Given the description of an element on the screen output the (x, y) to click on. 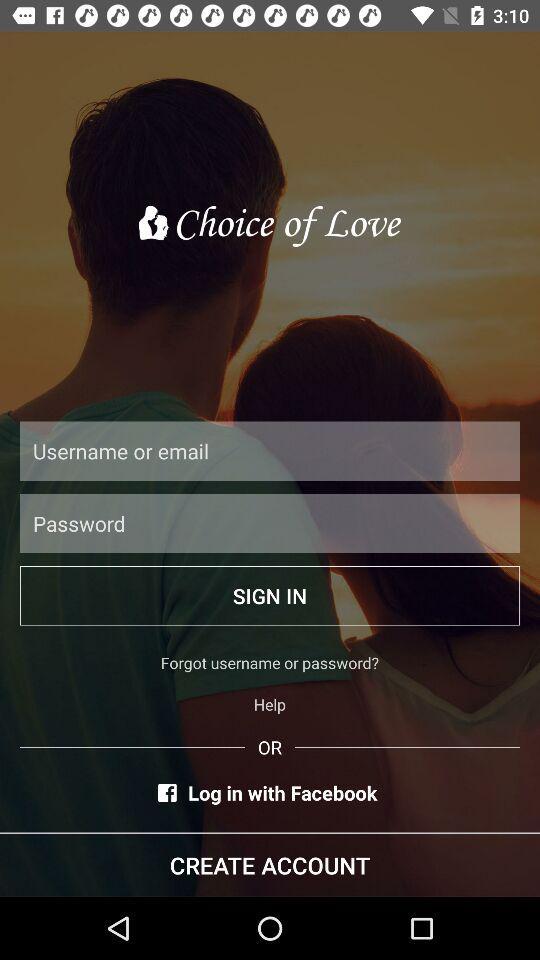
select icon above the help item (269, 662)
